Given the description of an element on the screen output the (x, y) to click on. 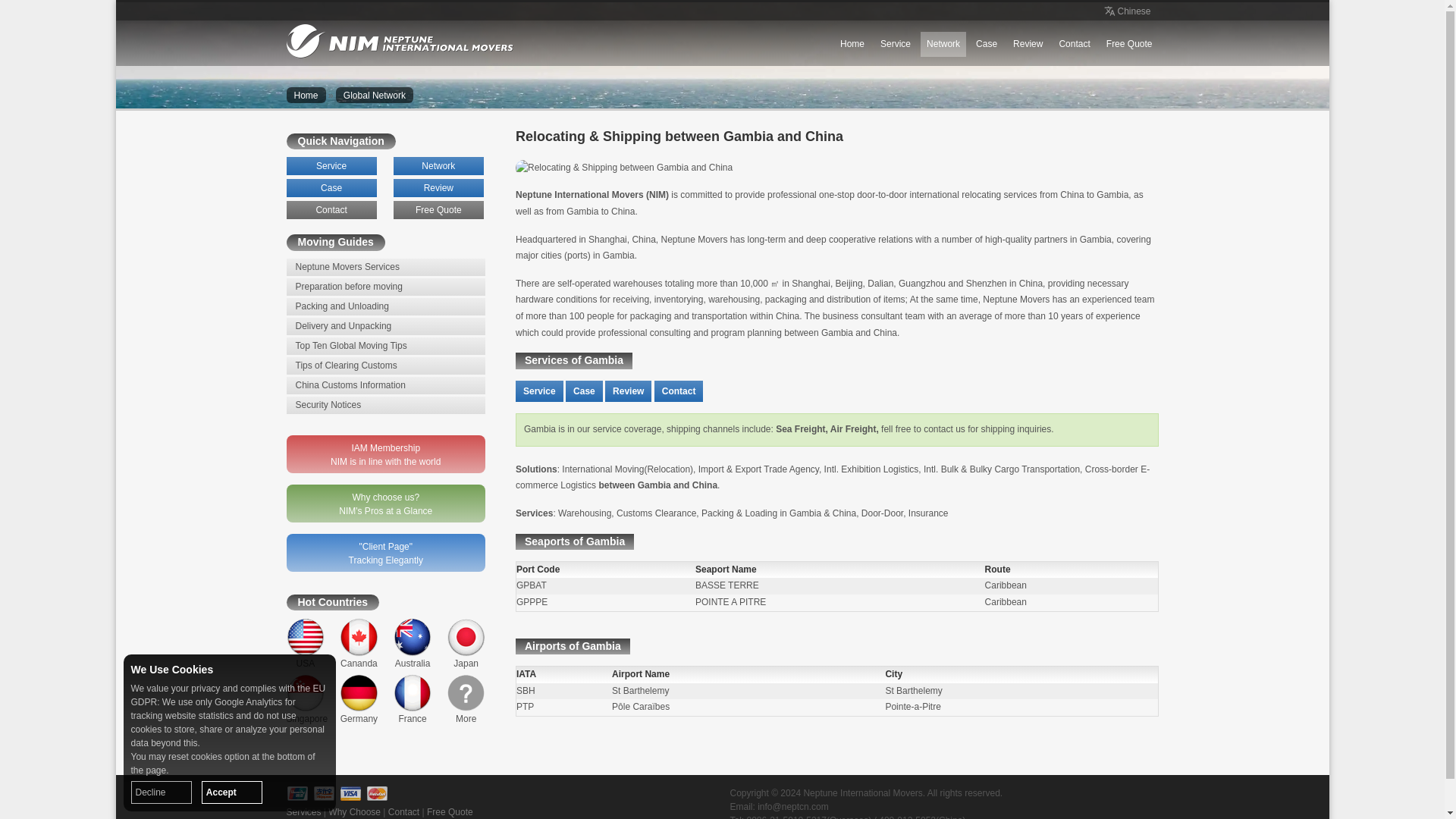
Network (438, 166)
Chinese (1126, 11)
Top Ten Global Moving Tips (386, 345)
Case (331, 188)
Service (331, 166)
Case (986, 43)
Tips of Clearing Customs (386, 365)
Home (852, 43)
Contact (1074, 43)
Home (306, 95)
Network (943, 43)
Review (438, 188)
Security Notices (386, 405)
payment (350, 793)
Review (1027, 43)
